Given the description of an element on the screen output the (x, y) to click on. 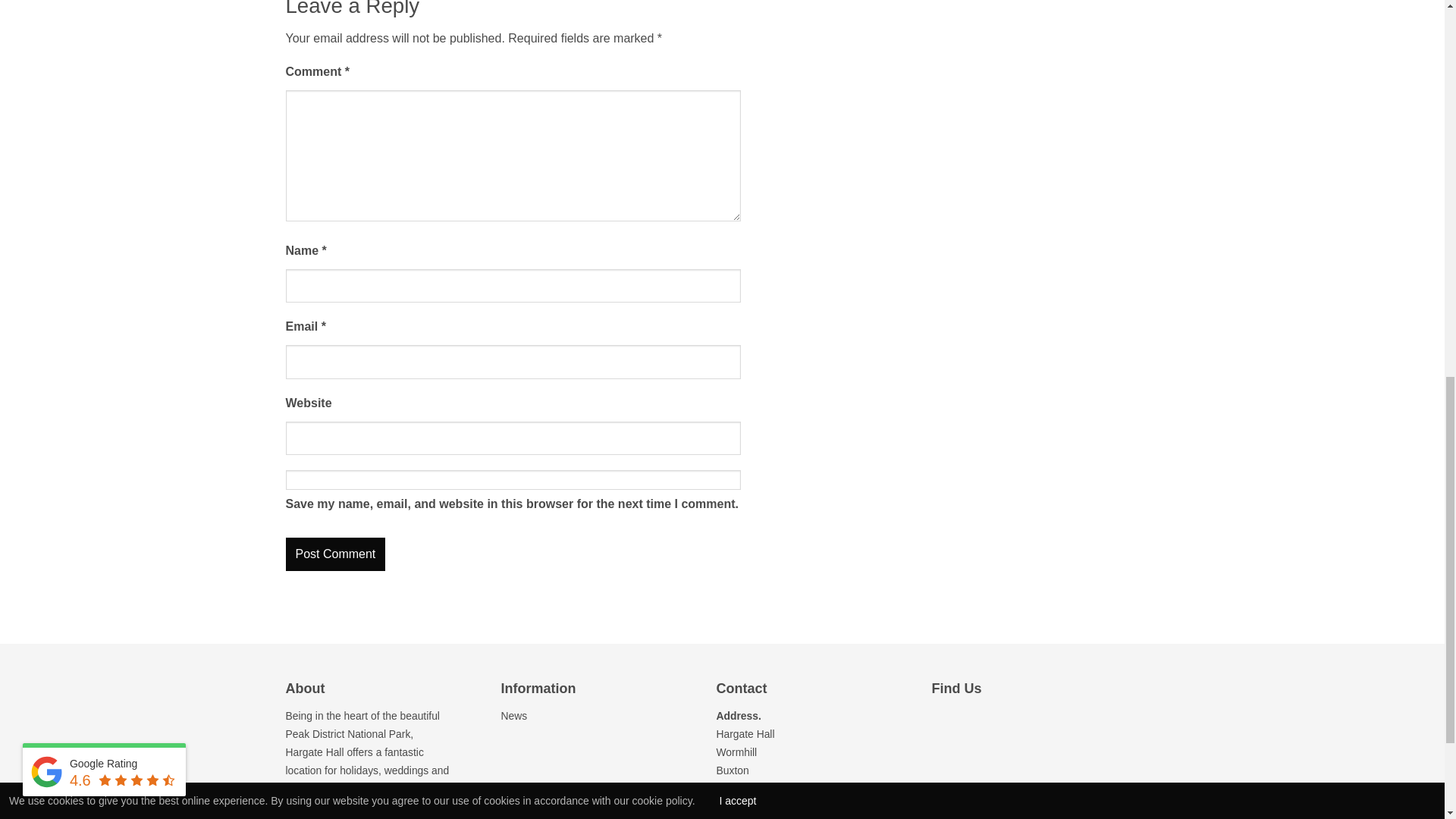
yes (512, 479)
Post Comment (335, 553)
